Given the description of an element on the screen output the (x, y) to click on. 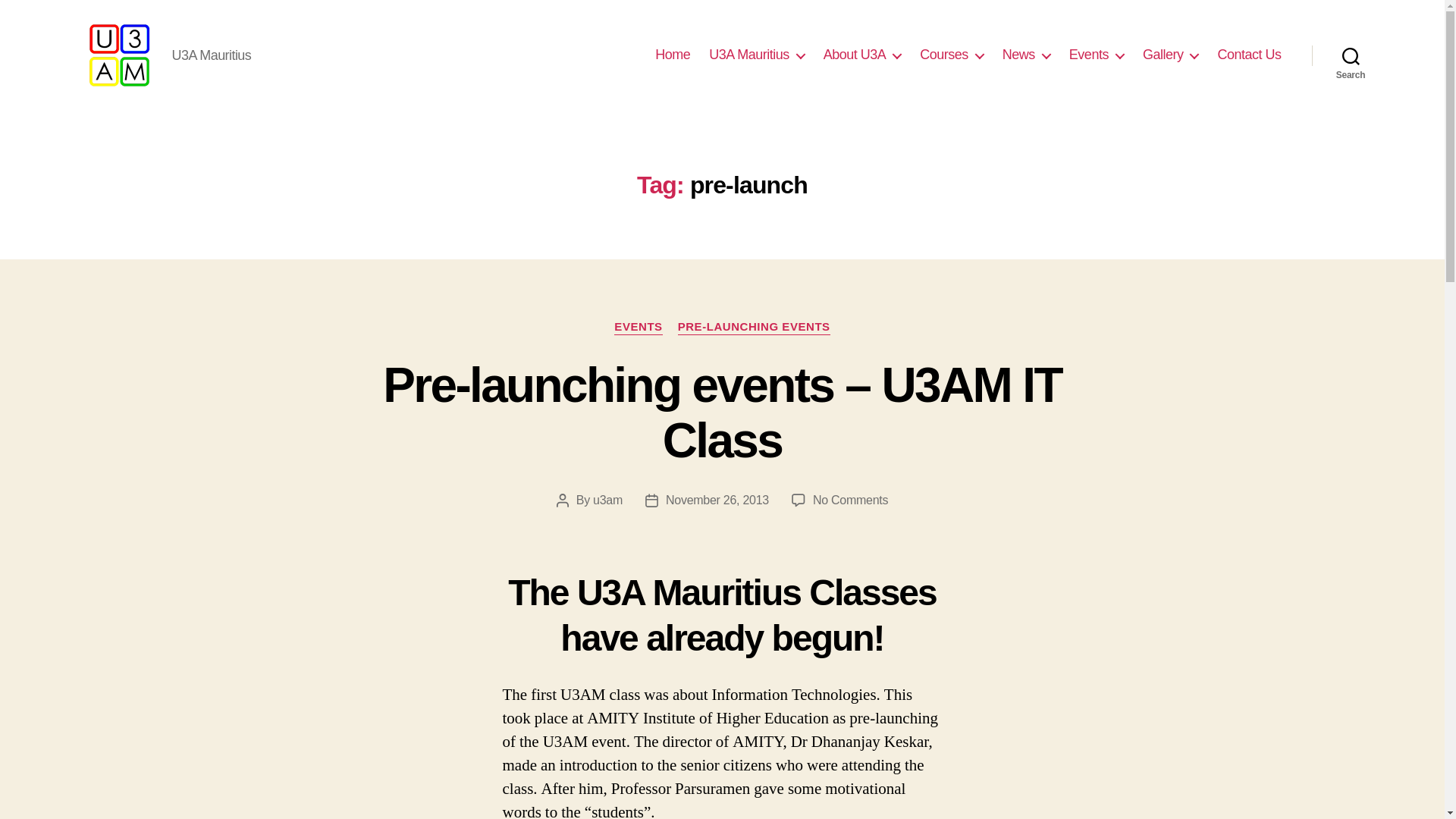
Contact Us (1249, 54)
Search (1350, 55)
News (1026, 54)
Courses (952, 54)
About U3A (862, 54)
Events (1096, 54)
Gallery (1170, 54)
Home (672, 54)
U3A Mauritius (757, 54)
